Given the description of an element on the screen output the (x, y) to click on. 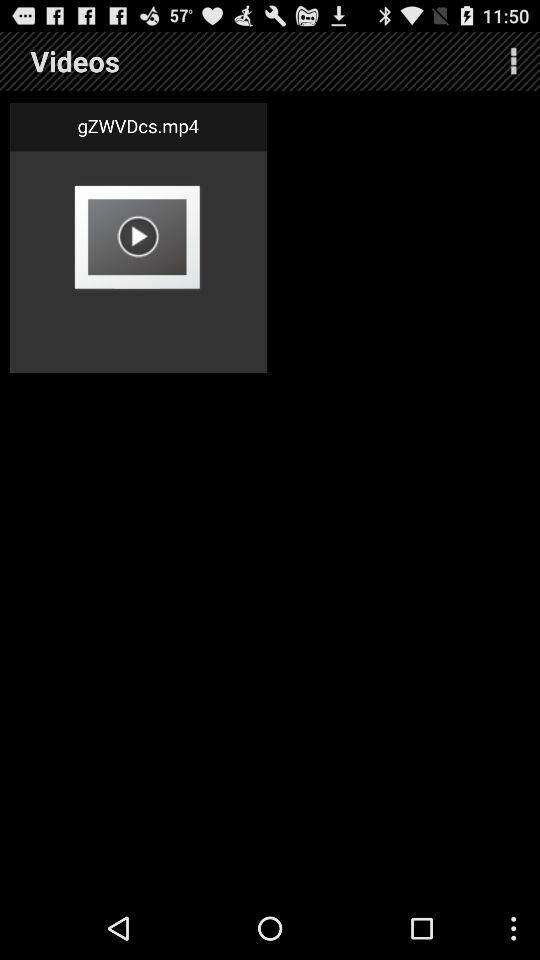
turn off item at the top right corner (513, 60)
